Given the description of an element on the screen output the (x, y) to click on. 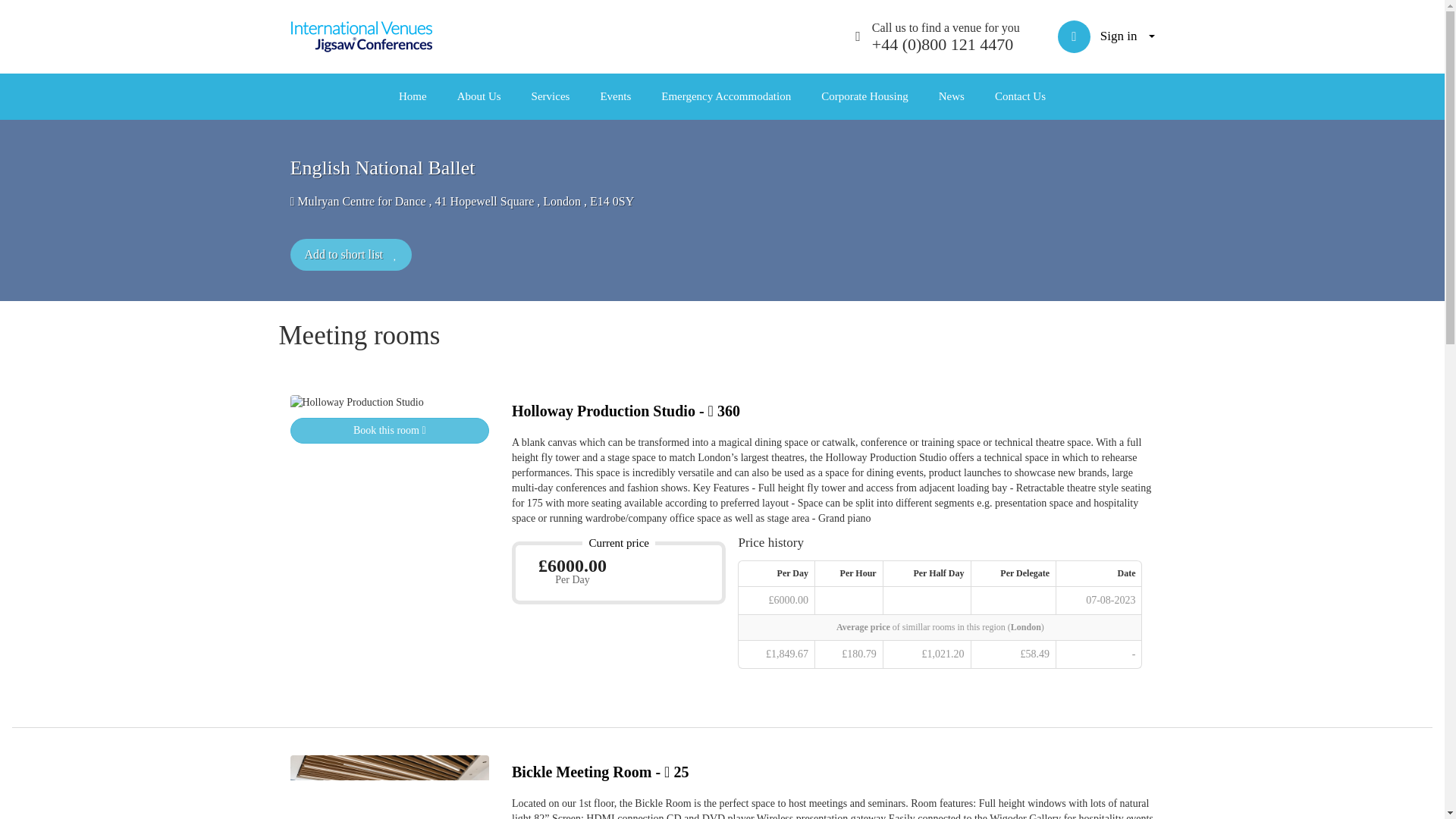
Contact Us (1020, 96)
Emergency Accommodation (726, 96)
Home (413, 96)
News (951, 96)
Corporate Housing (864, 96)
Add venue to short list (350, 255)
Events (615, 96)
Add venue to short list (389, 430)
Sign in (1106, 35)
Services (550, 96)
